Given the description of an element on the screen output the (x, y) to click on. 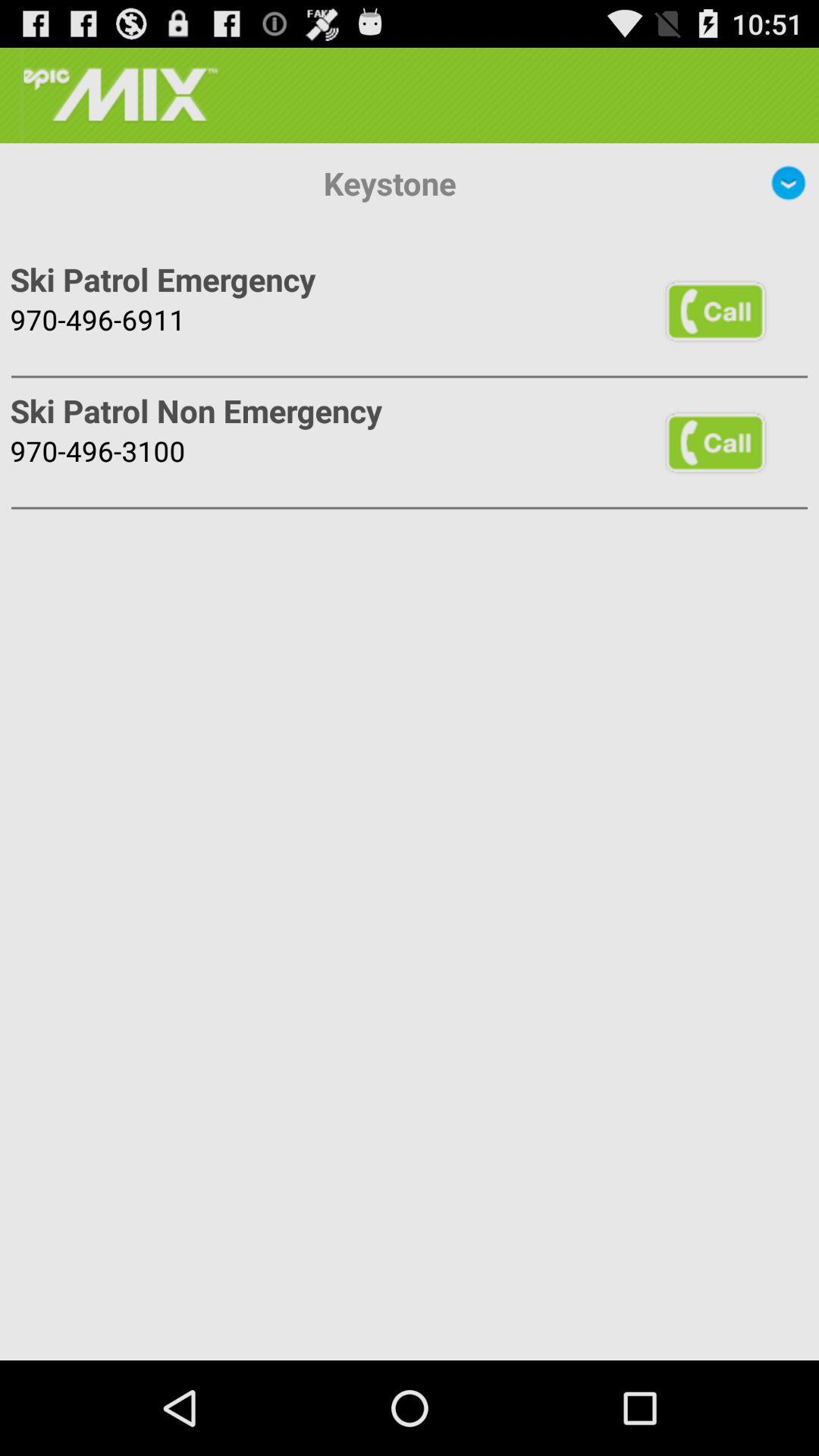
launch the icon above keystone item (118, 95)
